Given the description of an element on the screen output the (x, y) to click on. 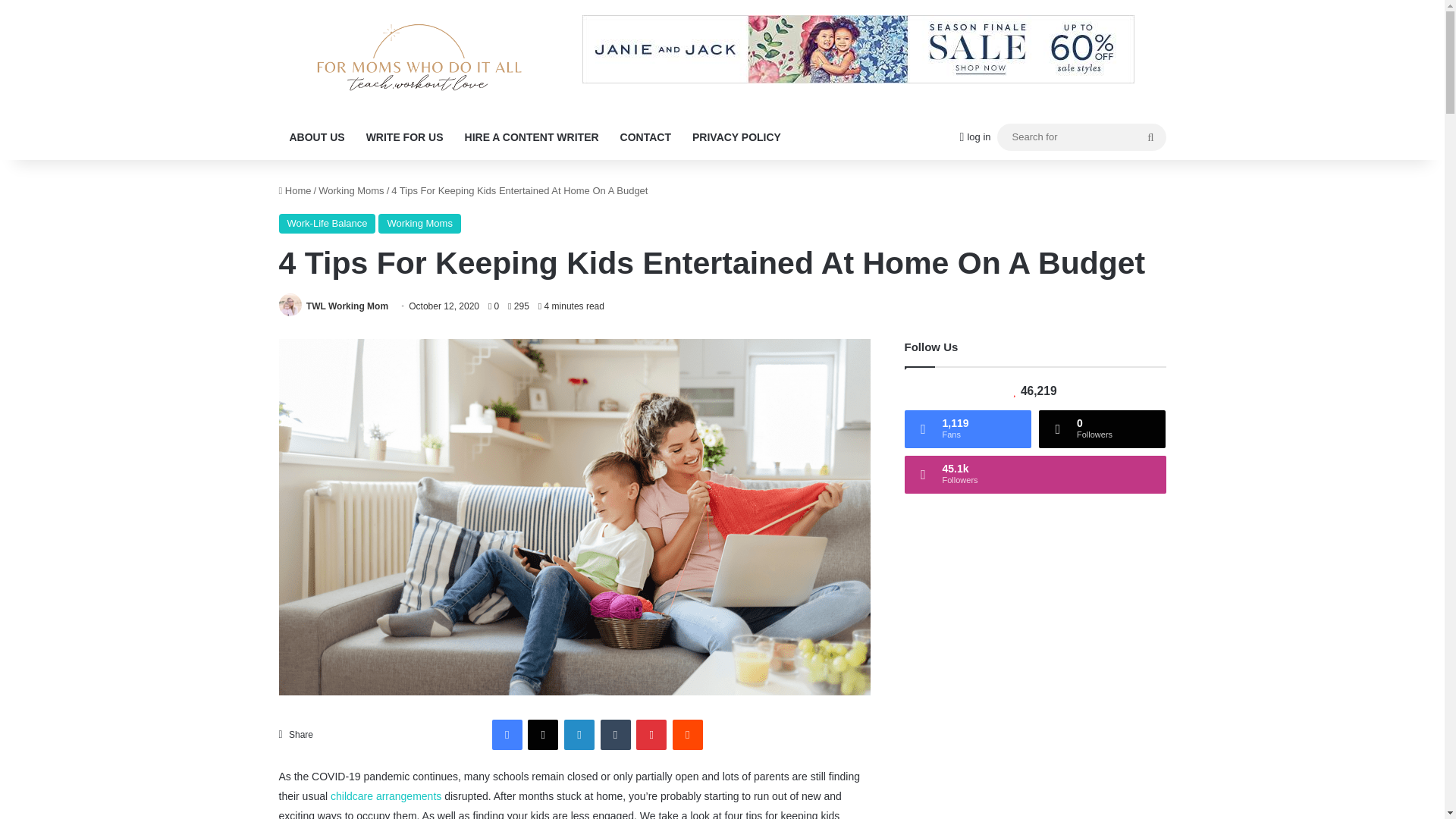
TWL Working Mom (346, 306)
Working Moms (419, 223)
Home (295, 190)
Work-Life Balance (327, 223)
Search for (1080, 136)
HIRE A CONTENT WRITER (532, 136)
WRITE FOR US (404, 136)
CONTACT (645, 136)
ABOUT US (317, 136)
PRIVACY POLICY (736, 136)
childcare arrangements (385, 796)
Facebook (507, 734)
Tumblr (614, 734)
LinkedIn (579, 734)
TWL Working Mom (346, 306)
